Given the description of an element on the screen output the (x, y) to click on. 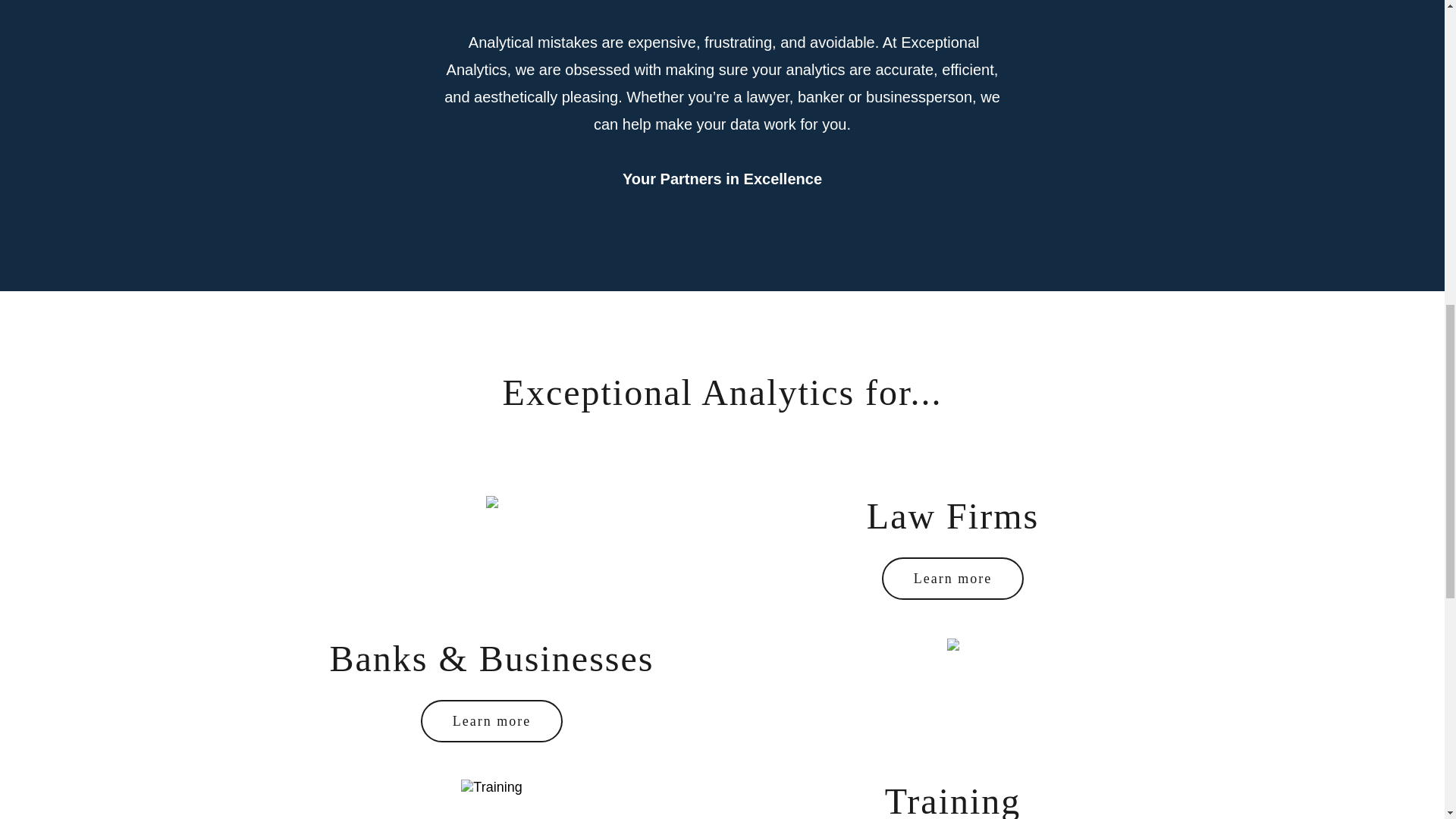
Learn more (491, 721)
Learn more (952, 578)
